Given the description of an element on the screen output the (x, y) to click on. 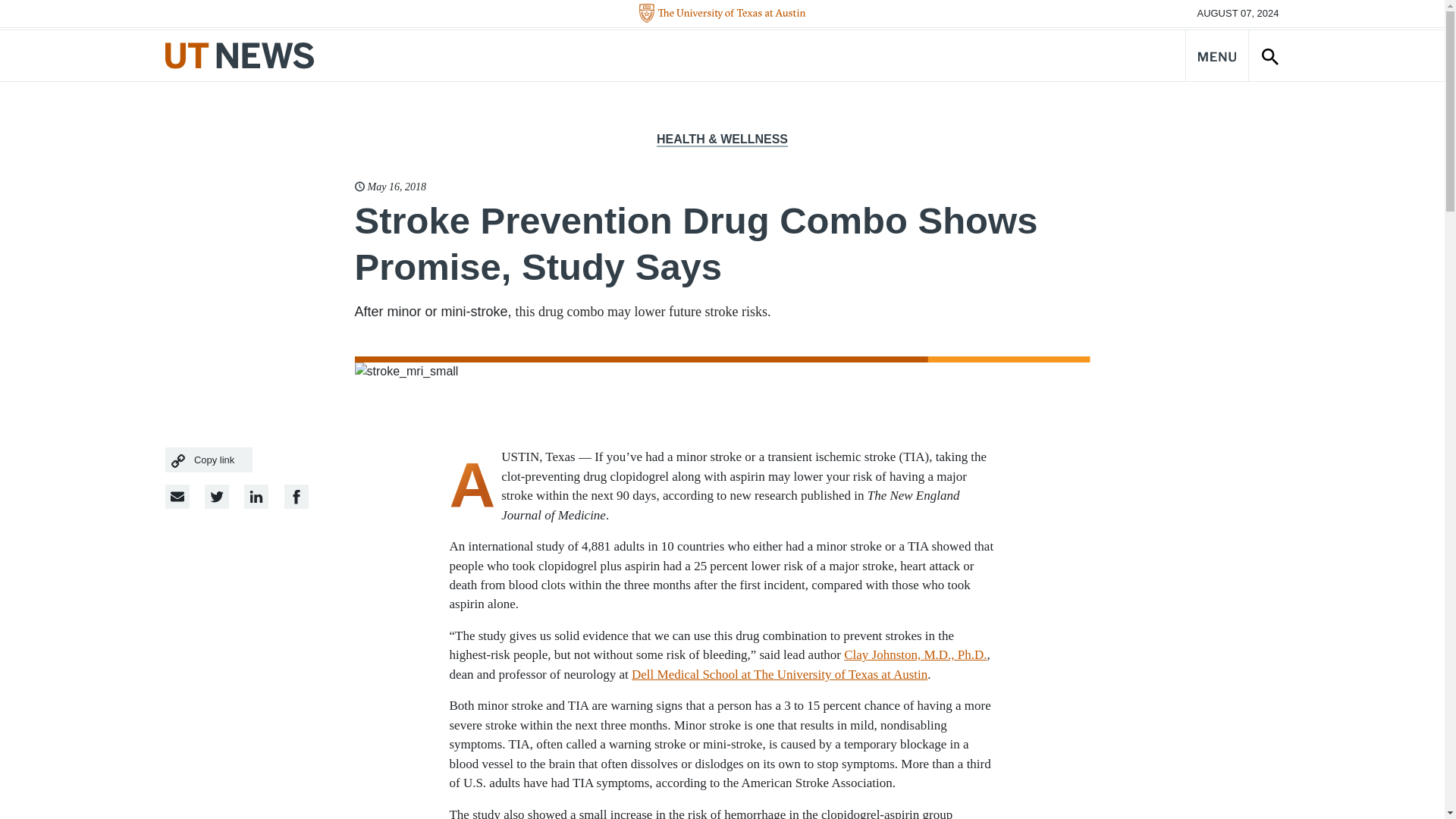
Twitter Share Link (216, 496)
Email Share Link (177, 496)
Copy link (209, 459)
Navigation (1216, 55)
Dell Medical School at The University of Texas at Austin (779, 674)
Clay Johnston, M.D., Ph.D. (915, 654)
The University of Texas at Austin (722, 13)
UT News (239, 55)
Facebook Share Link (255, 496)
